Given the description of an element on the screen output the (x, y) to click on. 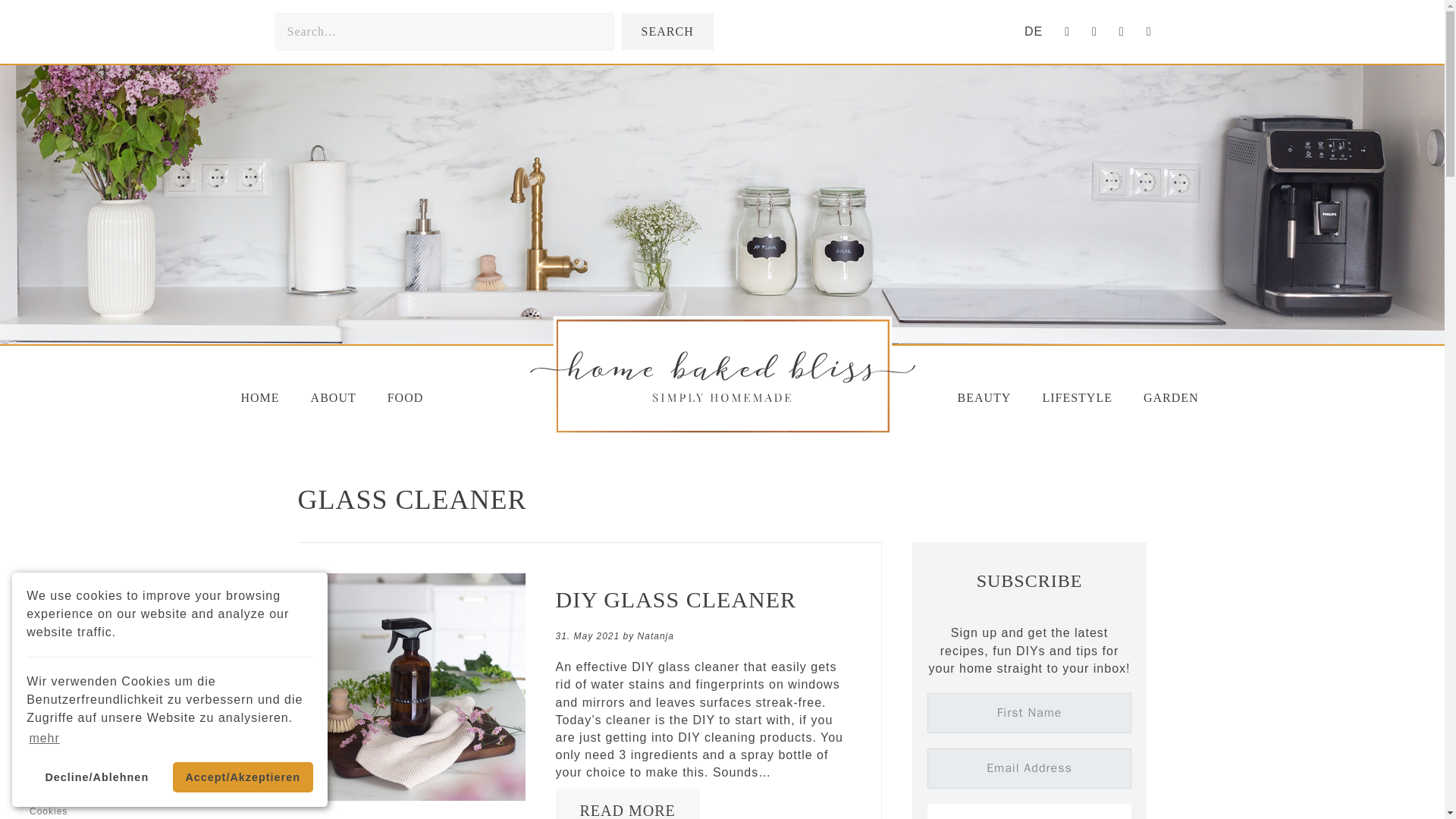
LIFESTYLE (1076, 397)
GARDEN (1171, 397)
home-baked-bliss-logo-svg (721, 374)
mehr (44, 738)
SEARCH (667, 31)
Read More (627, 810)
HOME (260, 397)
ABOUT (333, 397)
DE (1032, 31)
FOOD (405, 397)
DIY Glass Cleaner (675, 599)
BEAUTY (984, 397)
